Given the description of an element on the screen output the (x, y) to click on. 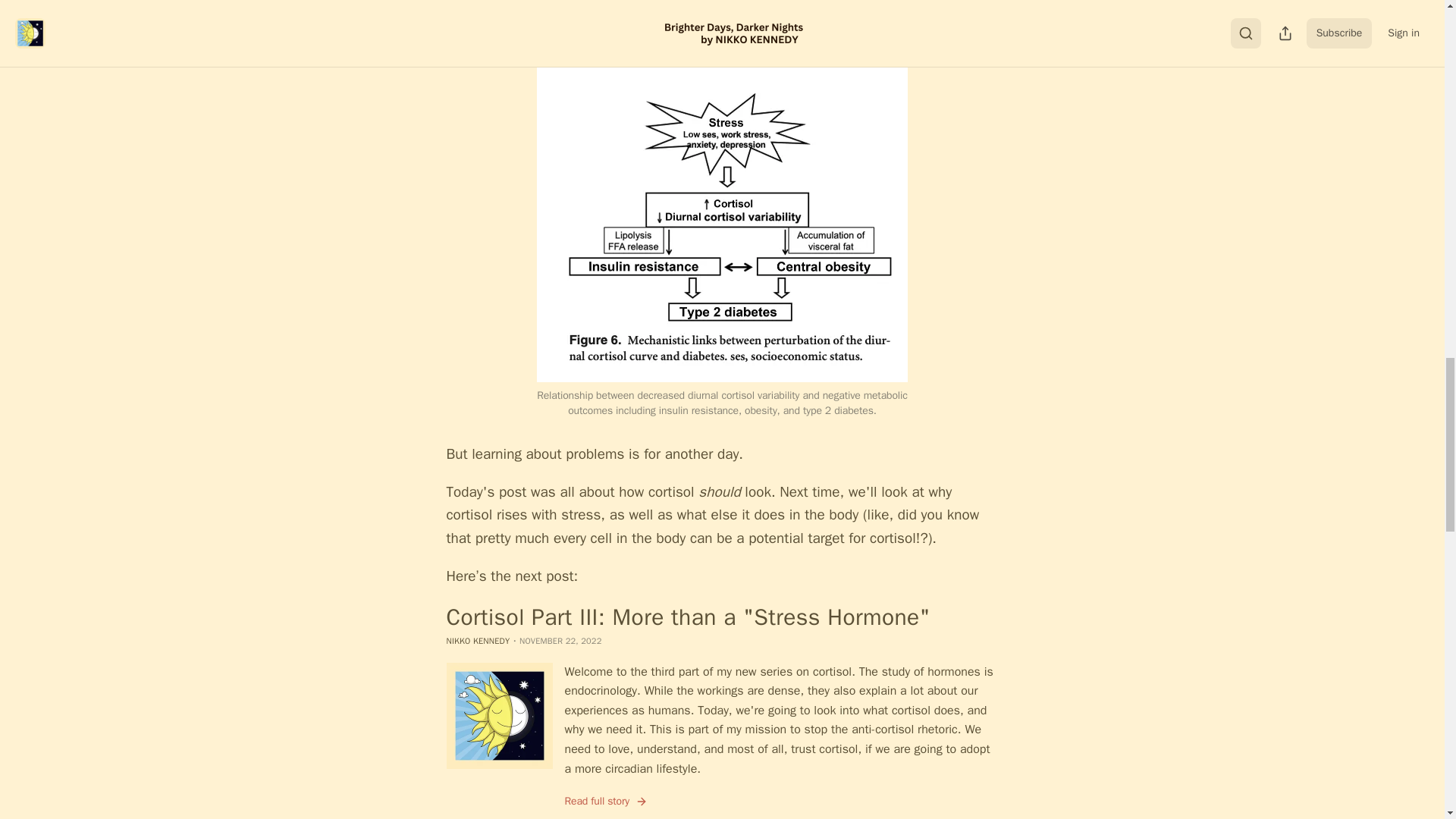
NIKKO KENNEDY (477, 640)
Cortisol Part III: More than a "Stress Hormone" (721, 616)
Read full story (605, 801)
